Given the description of an element on the screen output the (x, y) to click on. 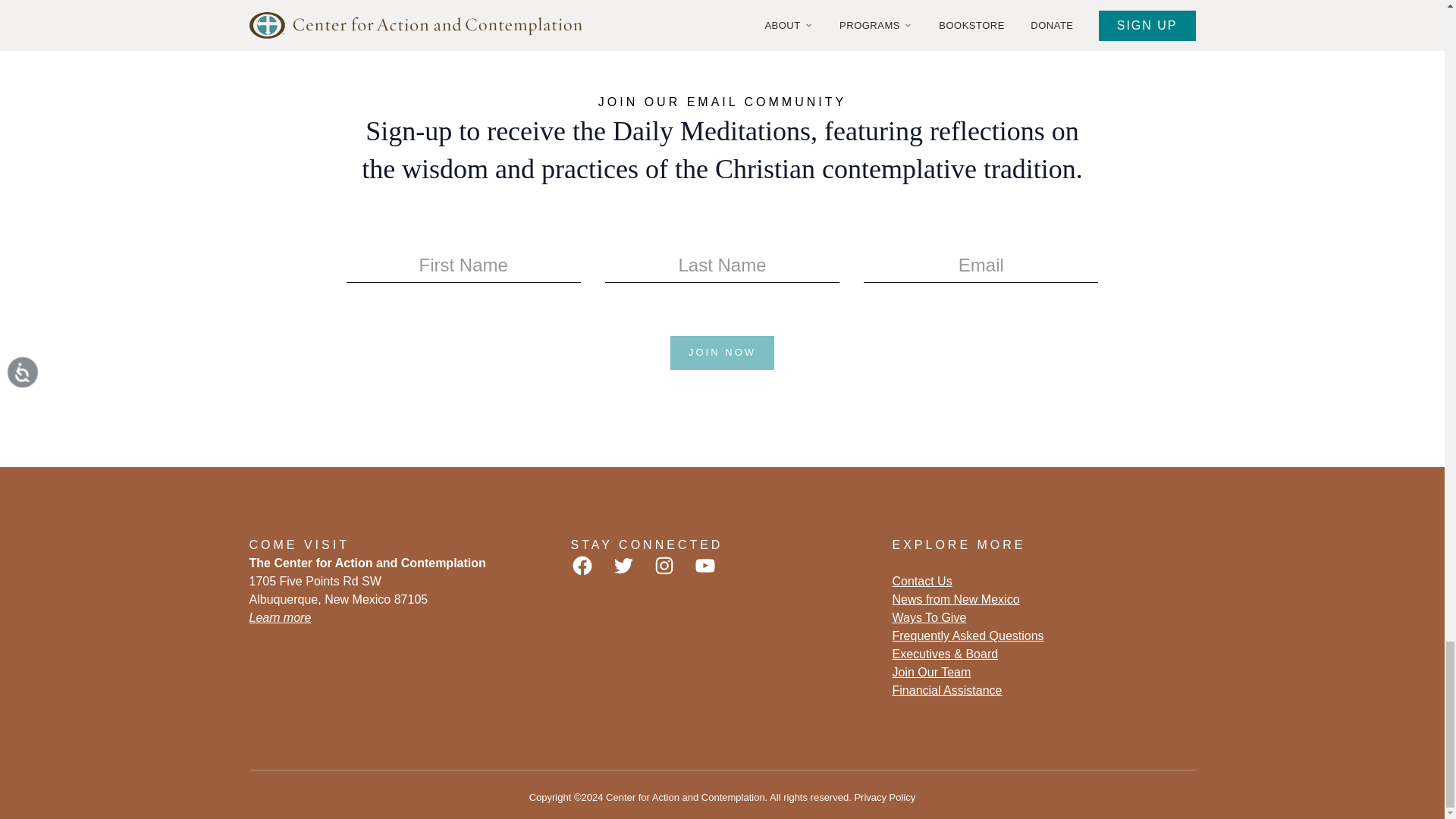
Last Name (722, 265)
Email (980, 265)
First Name (462, 265)
Join Now (721, 352)
